Given the description of an element on the screen output the (x, y) to click on. 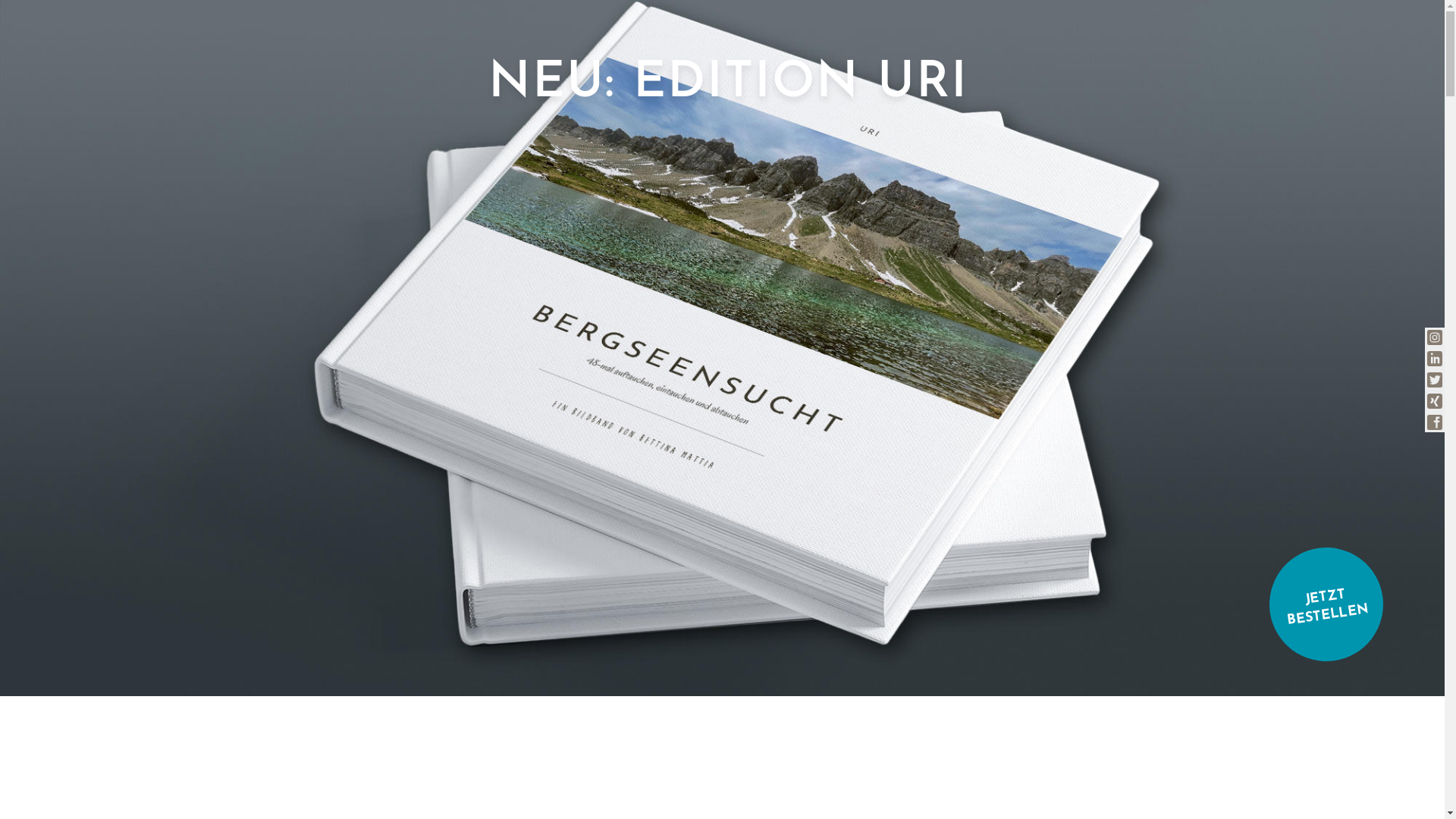
JETZT BESTELLEN Element type: text (1318, 596)
